Given the description of an element on the screen output the (x, y) to click on. 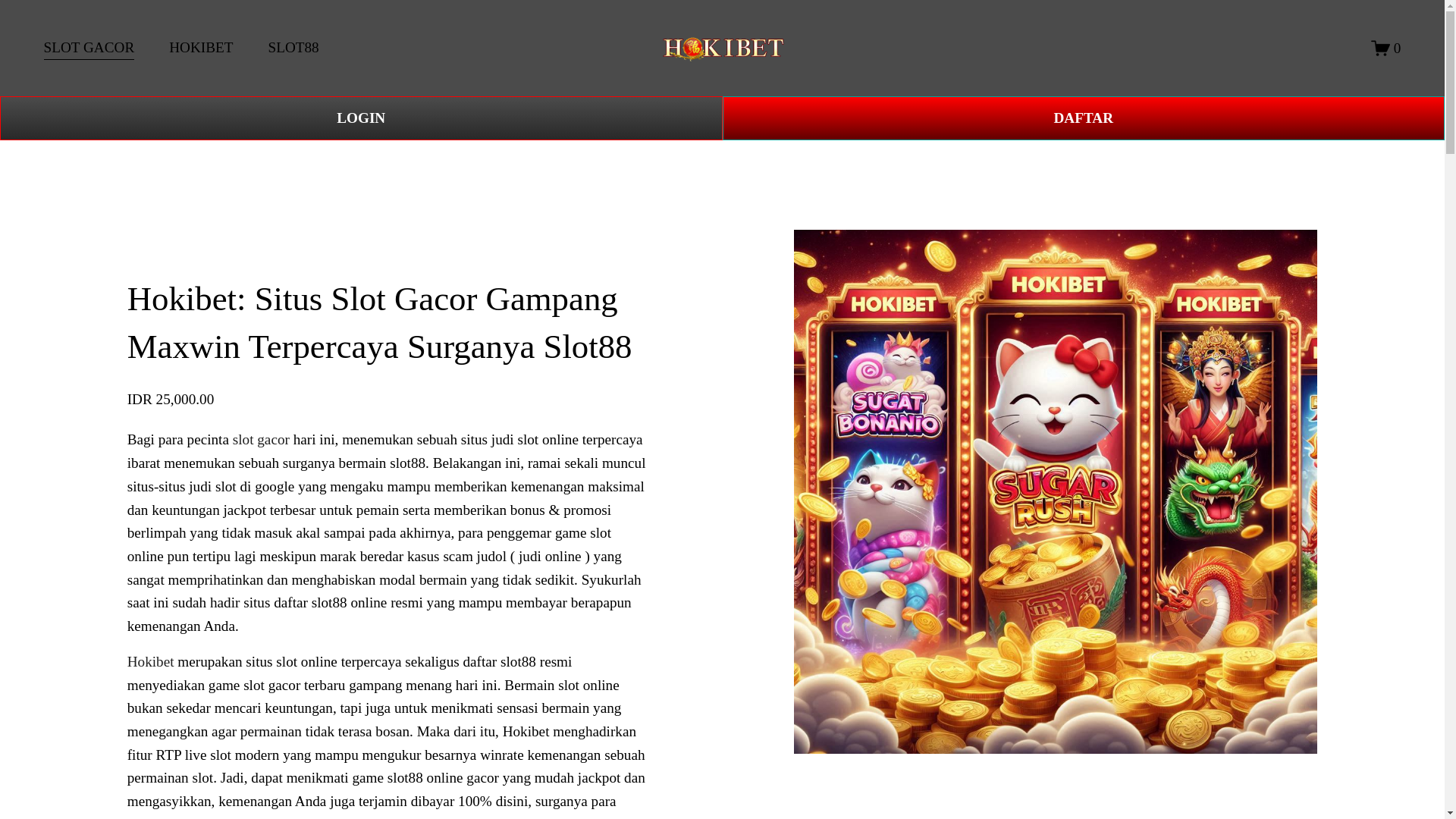
SLOT88 (292, 48)
0 (1385, 47)
Hokibet (151, 661)
SLOT GACOR (89, 48)
LOGIN (361, 118)
HOKIBET (200, 48)
slot gacor (260, 439)
